Given the description of an element on the screen output the (x, y) to click on. 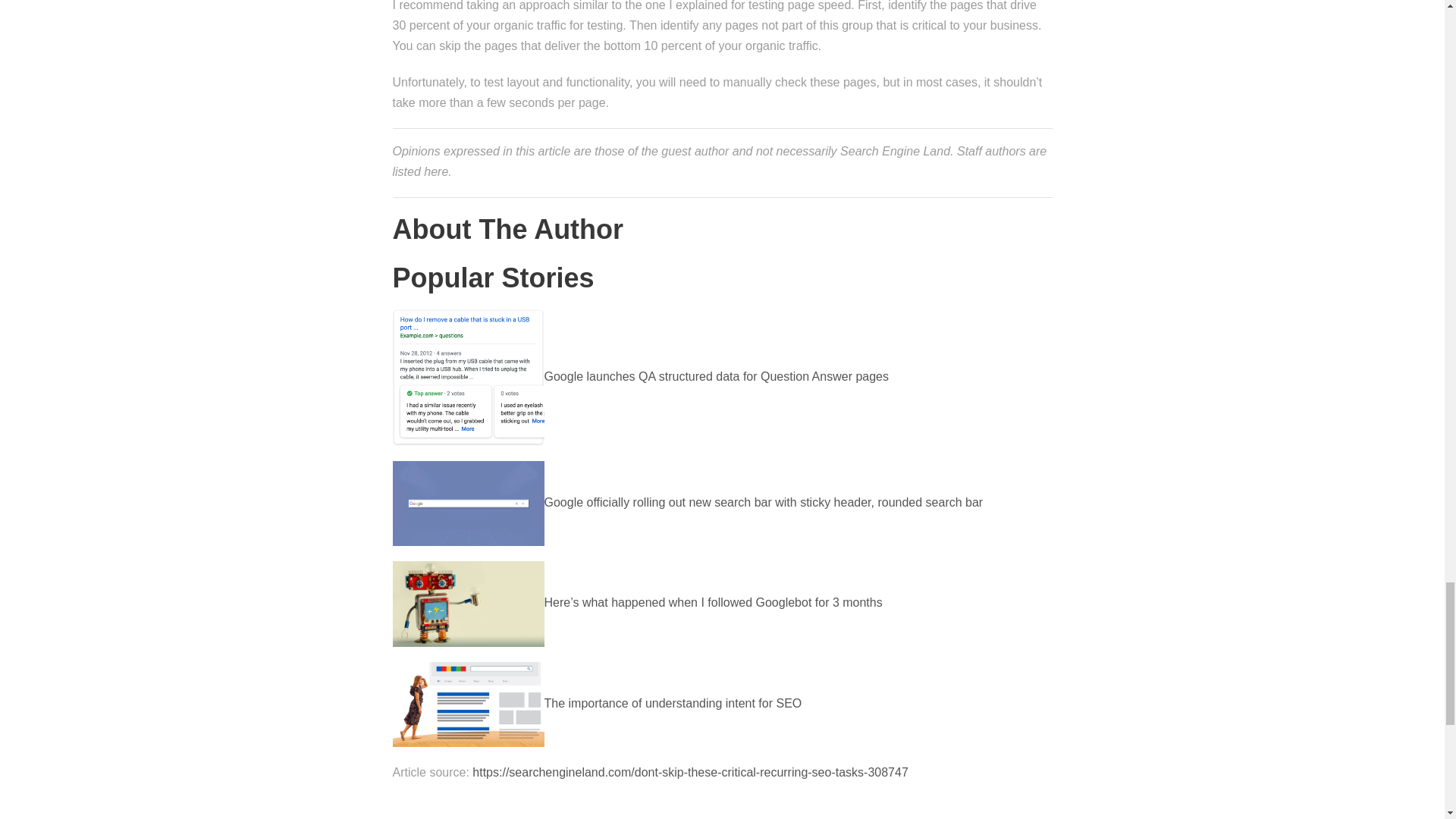
The importance of understanding intent for SEO (597, 703)
Google launches QA structured data for Question Answer pages (641, 376)
